Given the description of an element on the screen output the (x, y) to click on. 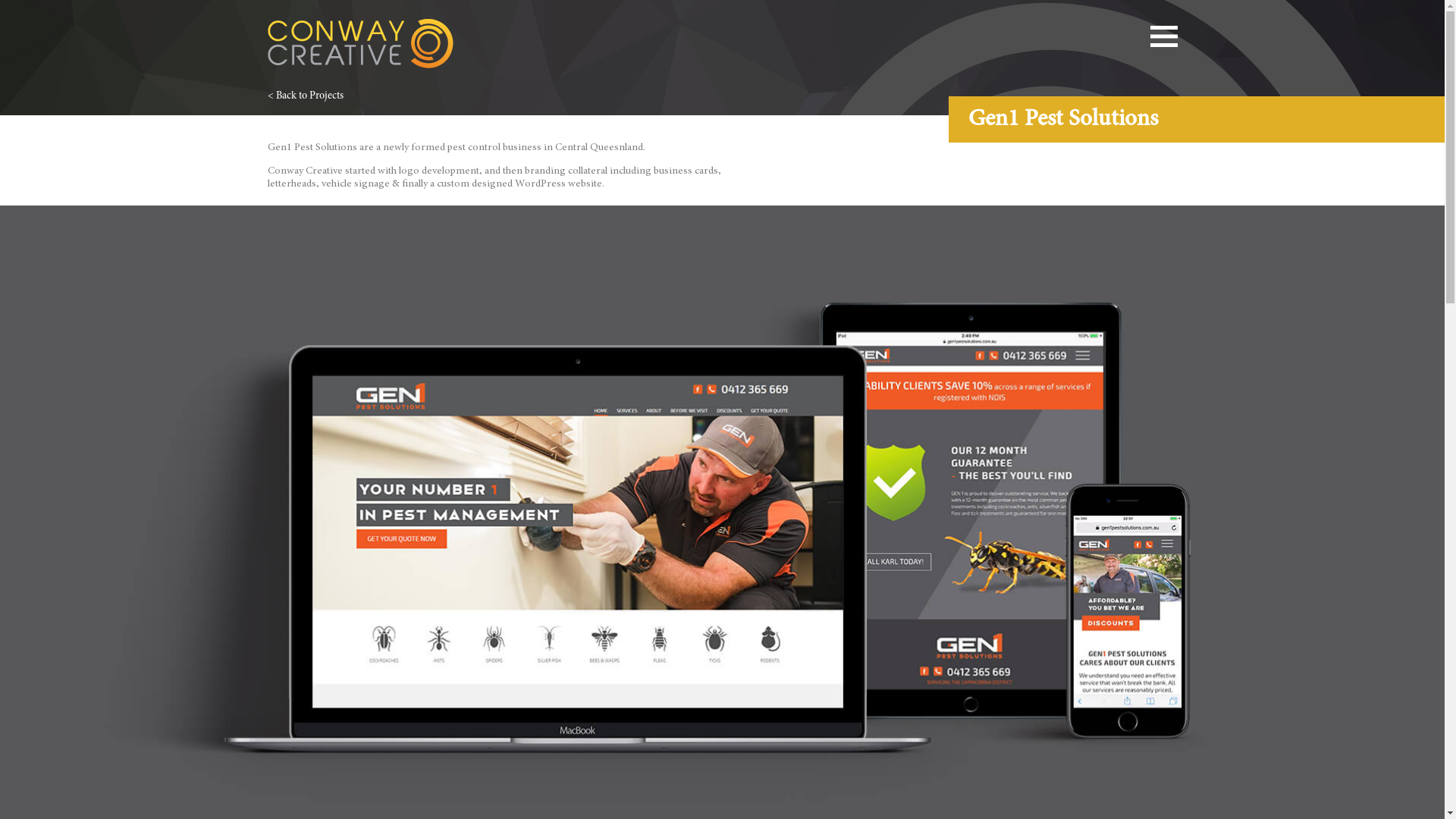
< Back to Projects Element type: text (304, 96)
